Given the description of an element on the screen output the (x, y) to click on. 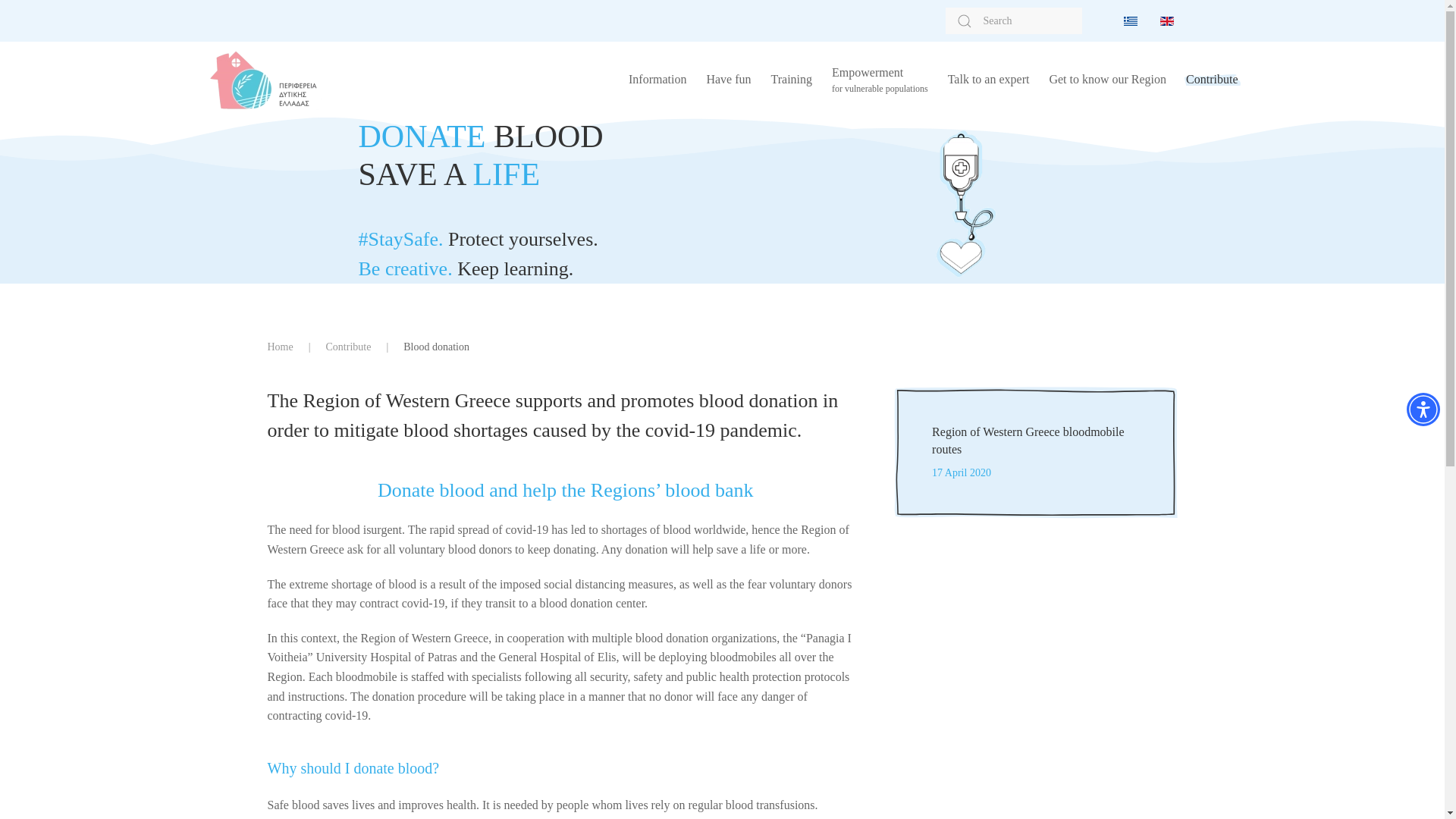
Information (656, 79)
Accessibility Menu (1422, 409)
